Given the description of an element on the screen output the (x, y) to click on. 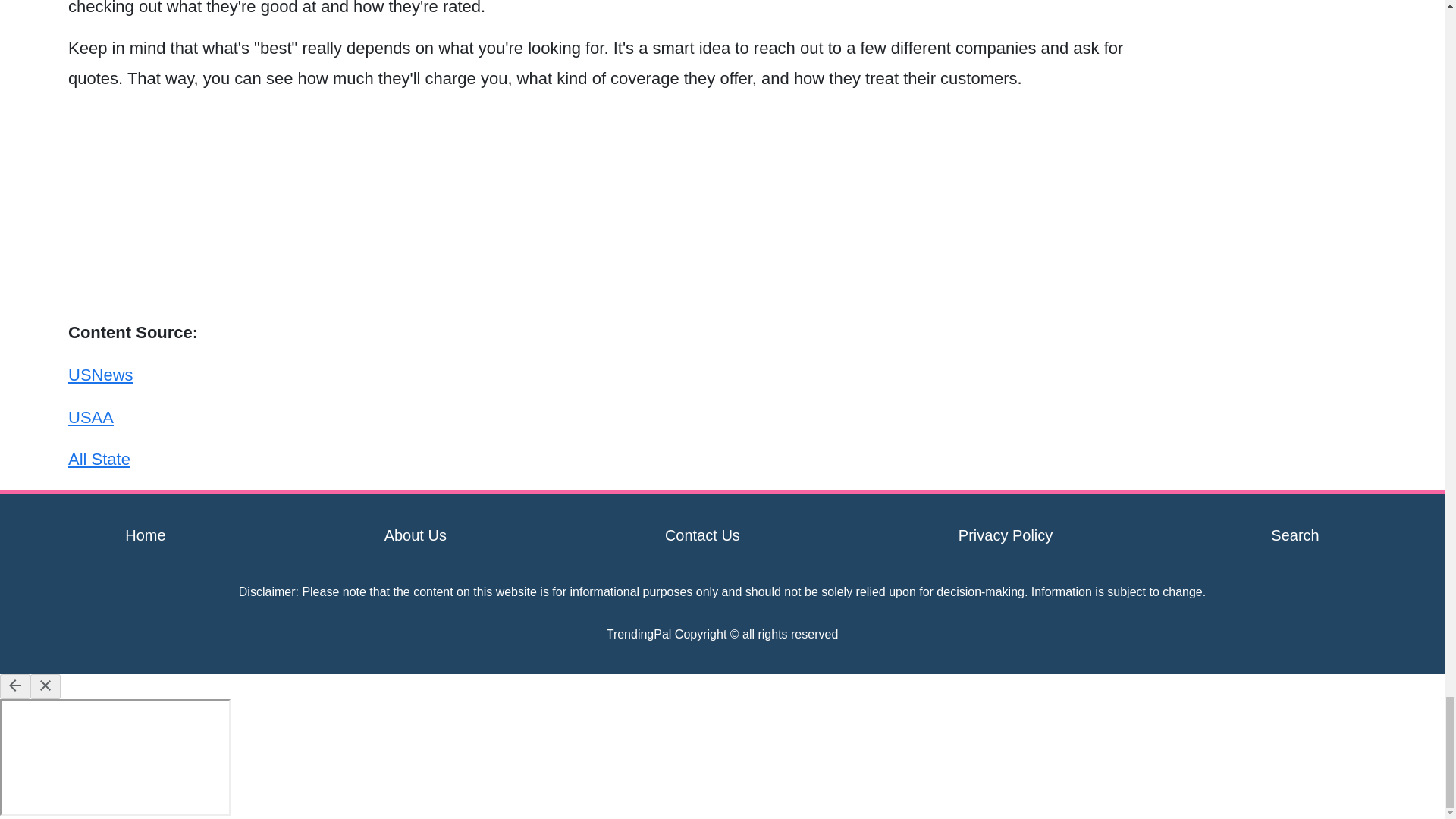
Privacy Policy (1005, 535)
Search (1295, 535)
Contact Us (702, 535)
USNews (100, 374)
All State (99, 458)
USAA (90, 416)
Home (145, 535)
TrendingPal (639, 634)
About Us (415, 535)
